Given the description of an element on the screen output the (x, y) to click on. 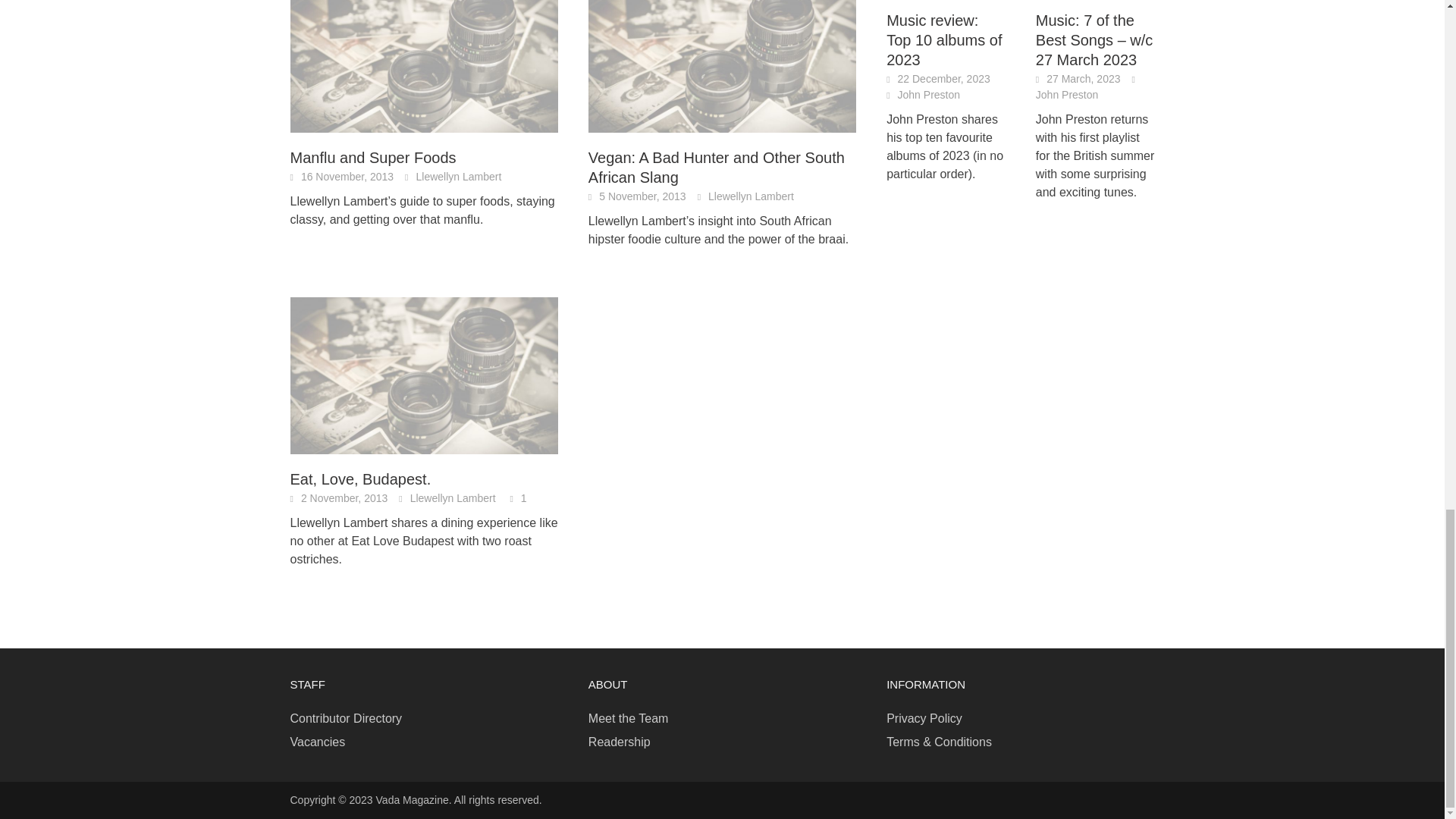
Manflu and Super Foods (423, 52)
Eat, Love, Budapest. (423, 374)
Vegan: A Bad Hunter and Other South African Slang (722, 52)
